Given the description of an element on the screen output the (x, y) to click on. 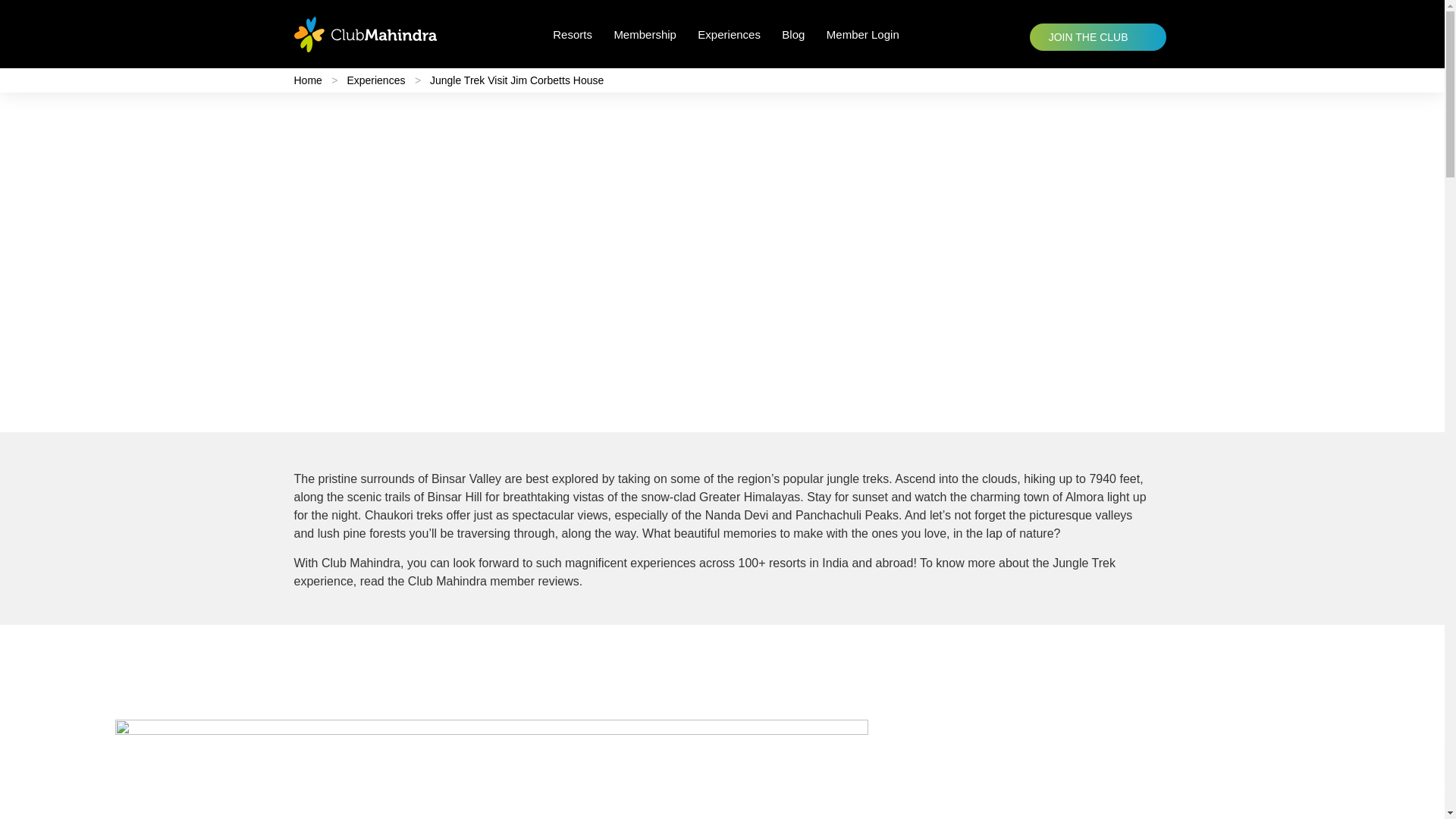
Resorts (572, 35)
Membership (644, 35)
Experiences (729, 35)
Resorts (572, 35)
Member Login (862, 35)
